Given the description of an element on the screen output the (x, y) to click on. 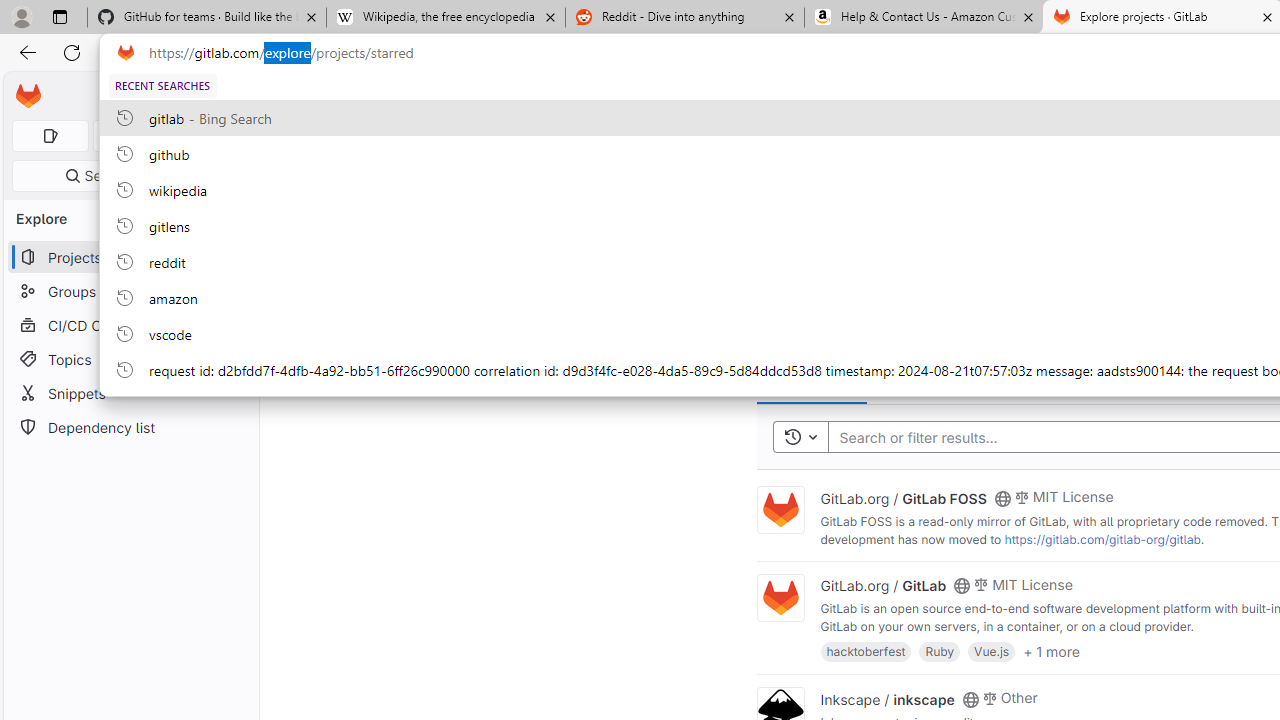
Projects (370, 95)
CI/CD Catalog (130, 325)
Wikipedia, the free encyclopedia (445, 17)
Topics (130, 358)
GitLab.org / GitLab FOSS (903, 497)
Homepage (27, 96)
Start your free trial (904, 254)
Snippets (130, 393)
+ 1 more (1051, 650)
Inkscape / inkscape (887, 698)
Projects (370, 95)
Skip to main content (23, 87)
